Given the description of an element on the screen output the (x, y) to click on. 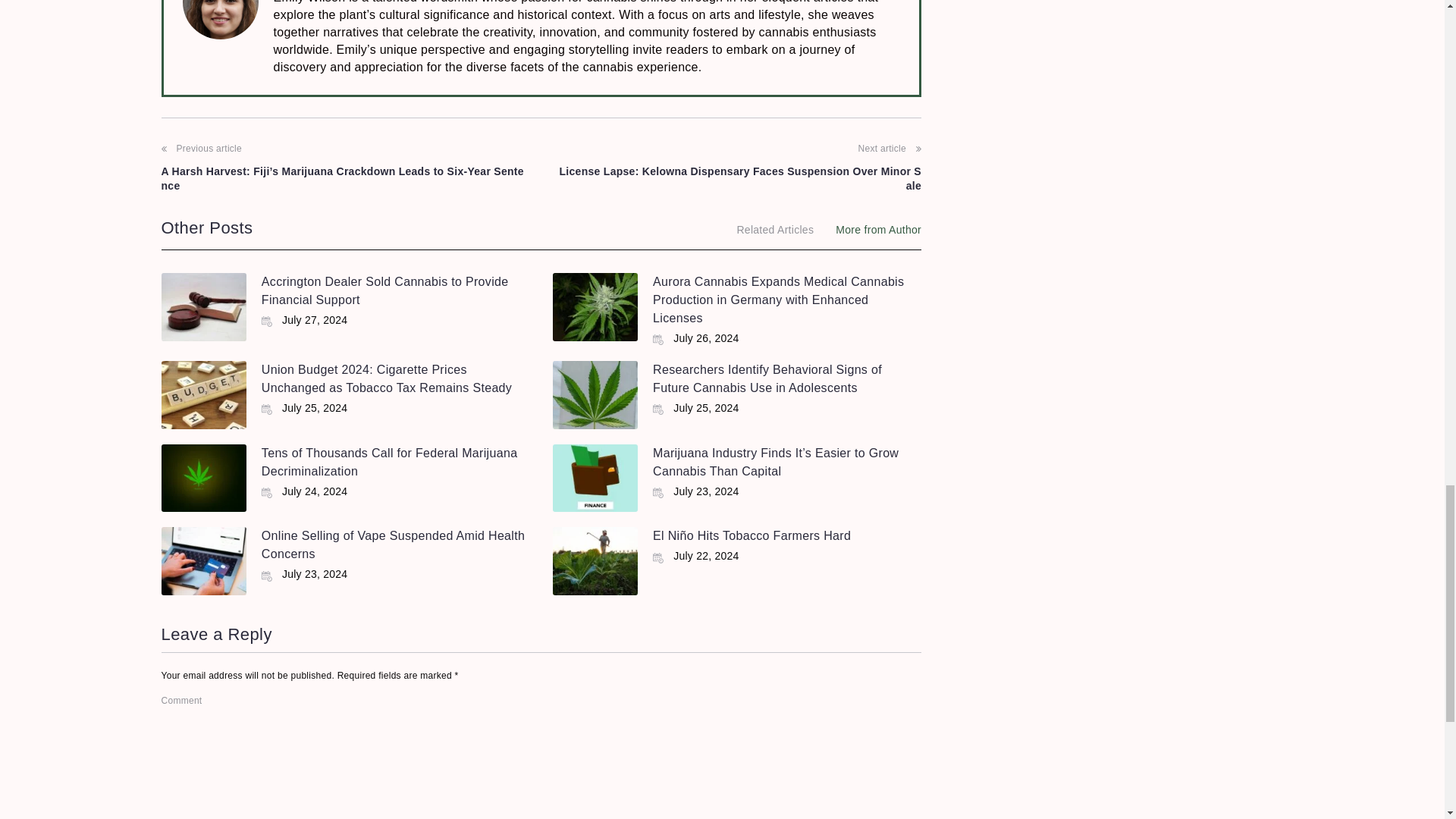
Accrington Dealer Sold Cannabis to Provide Financial Support (385, 290)
Online Selling of Vape Suspended Amid Health Concerns (393, 544)
